Given the description of an element on the screen output the (x, y) to click on. 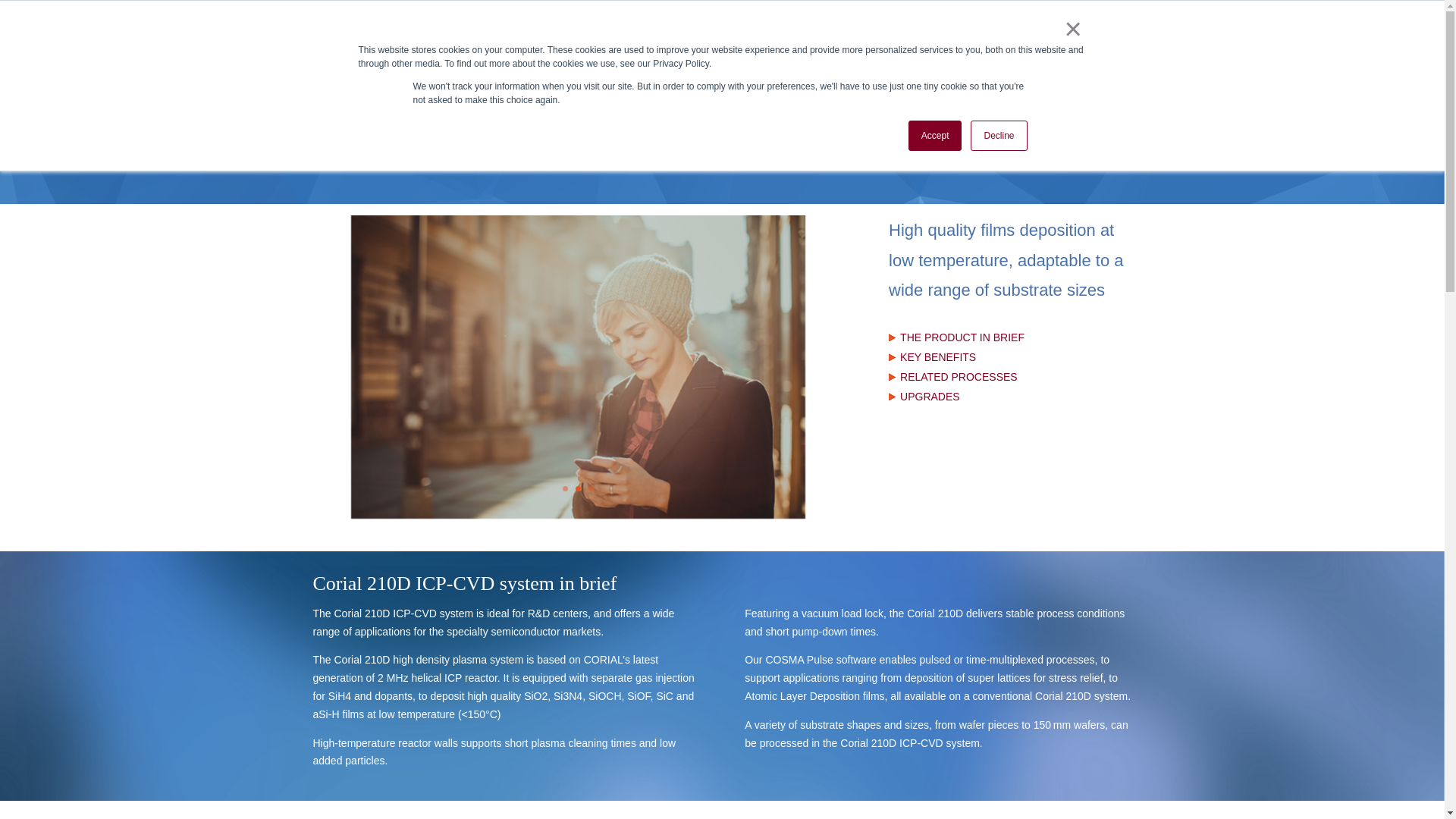
Accept (935, 135)
RESOURCES (596, 57)
TECHNOLOGIES (769, 57)
Decline (998, 135)
MARKETS (679, 57)
ABOUT (522, 57)
CORIAL-PT-LOGO-2021 v6 (393, 54)
